Given the description of an element on the screen output the (x, y) to click on. 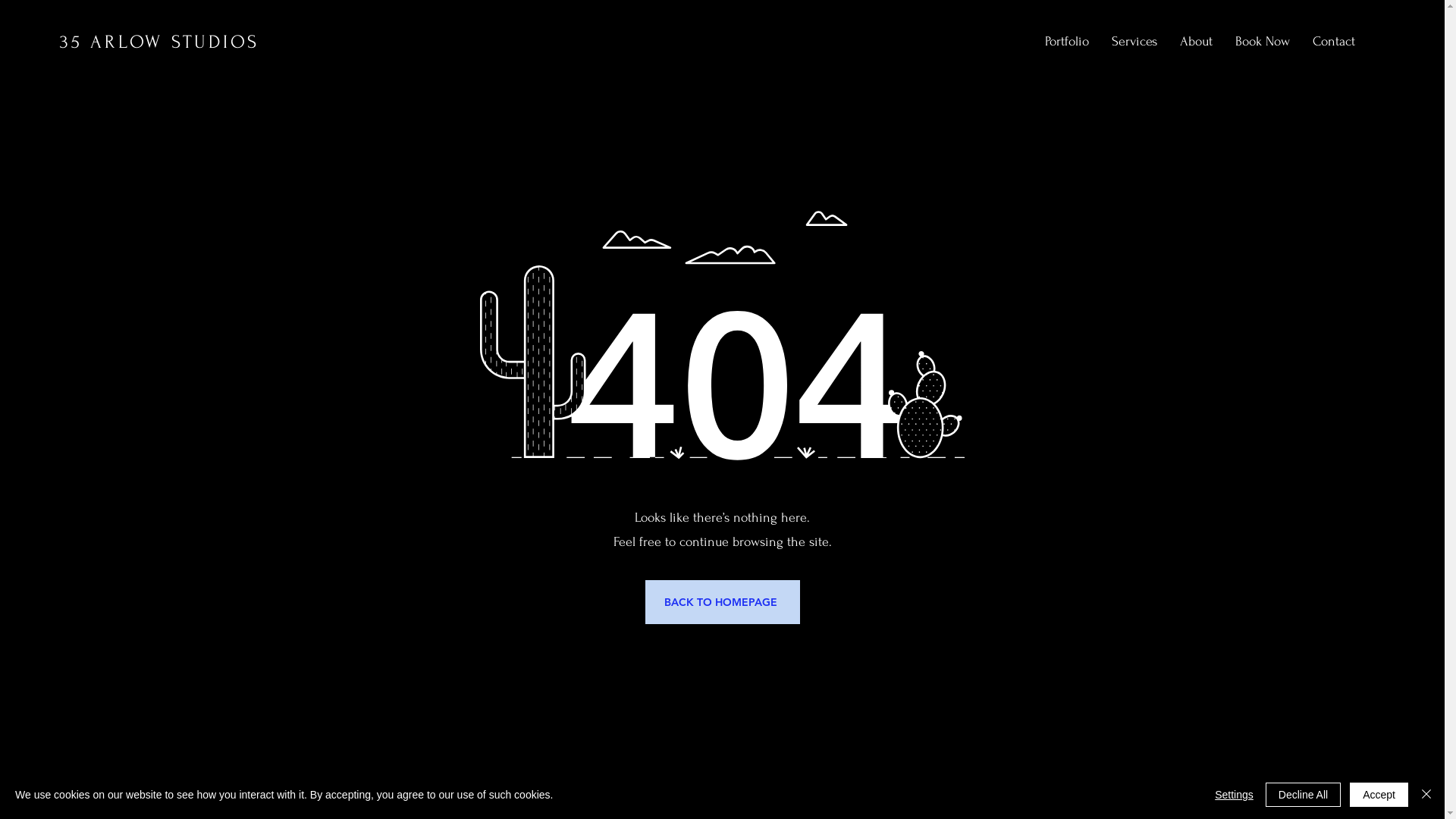
Decline All Element type: text (1302, 794)
About Element type: text (1195, 41)
Portfolio Element type: text (1066, 41)
35 ARLOW STUDIOS Element type: text (159, 41)
Services Element type: text (1134, 41)
Accept Element type: text (1378, 794)
BACK TO HOMEPAGE Element type: text (721, 602)
Embedded Content Element type: hover (1, 774)
Contact Element type: text (1333, 41)
35Arlow@Gmail.com Element type: text (1286, 789)
Book Now Element type: text (1262, 41)
